Given the description of an element on the screen output the (x, y) to click on. 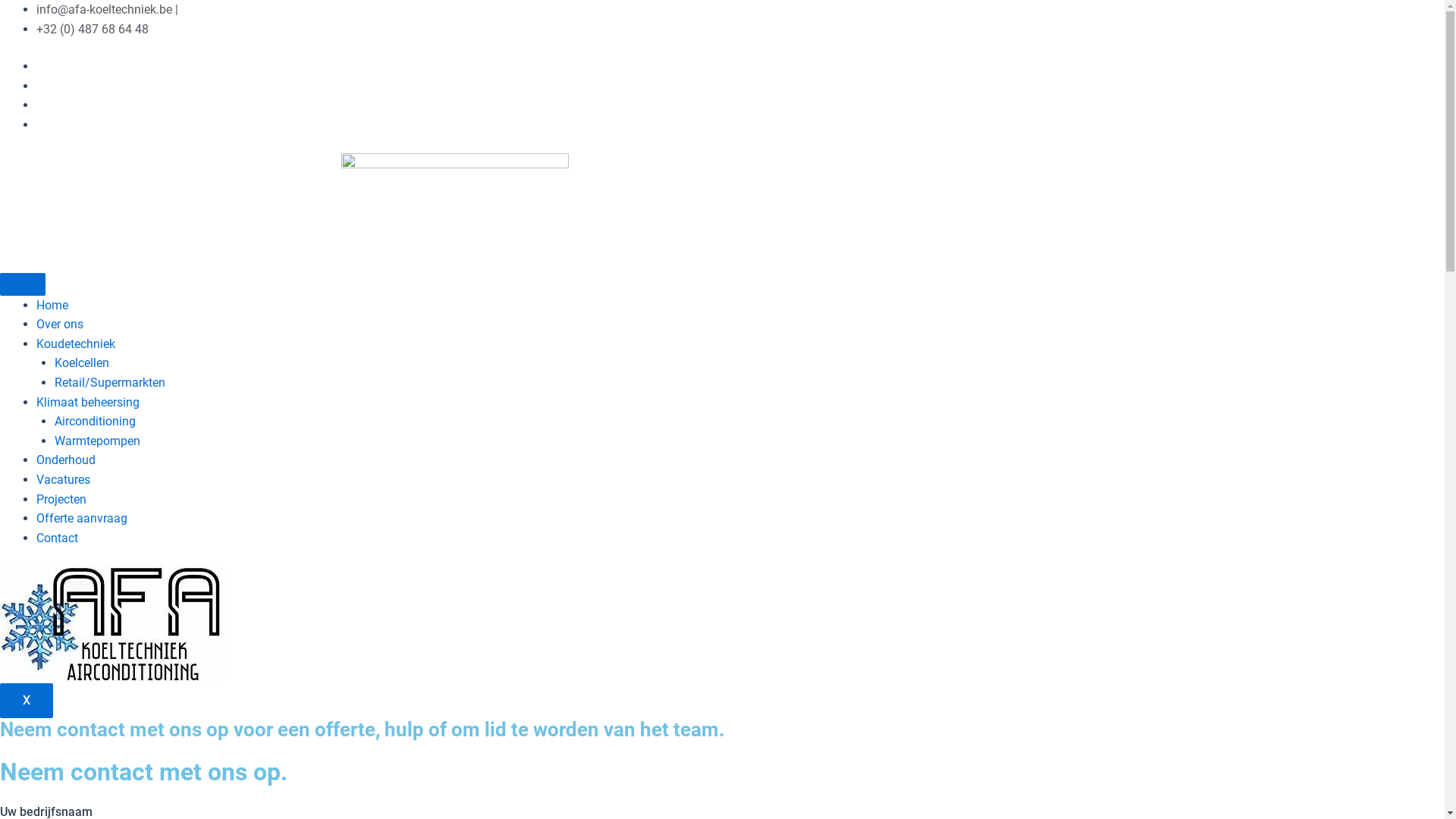
Airconditioning Element type: text (94, 421)
Onderhoud Element type: text (65, 459)
Koelcellen Element type: text (81, 362)
Contact Element type: text (57, 537)
Vacatures Element type: text (63, 479)
Projecten Element type: text (61, 498)
Offerte aanvraag Element type: text (81, 518)
Over ons Element type: text (59, 323)
Warmtepompen Element type: text (97, 440)
Home Element type: text (52, 305)
X Element type: text (26, 700)
Koudetechniek Element type: text (75, 343)
info@afa-koeltechniek.be | Element type: text (107, 9)
Retail/Supermarkten Element type: text (109, 382)
+32 (0) 487 68 64 48 Element type: text (92, 28)
Klimaat beheersing Element type: text (87, 402)
